Given the description of an element on the screen output the (x, y) to click on. 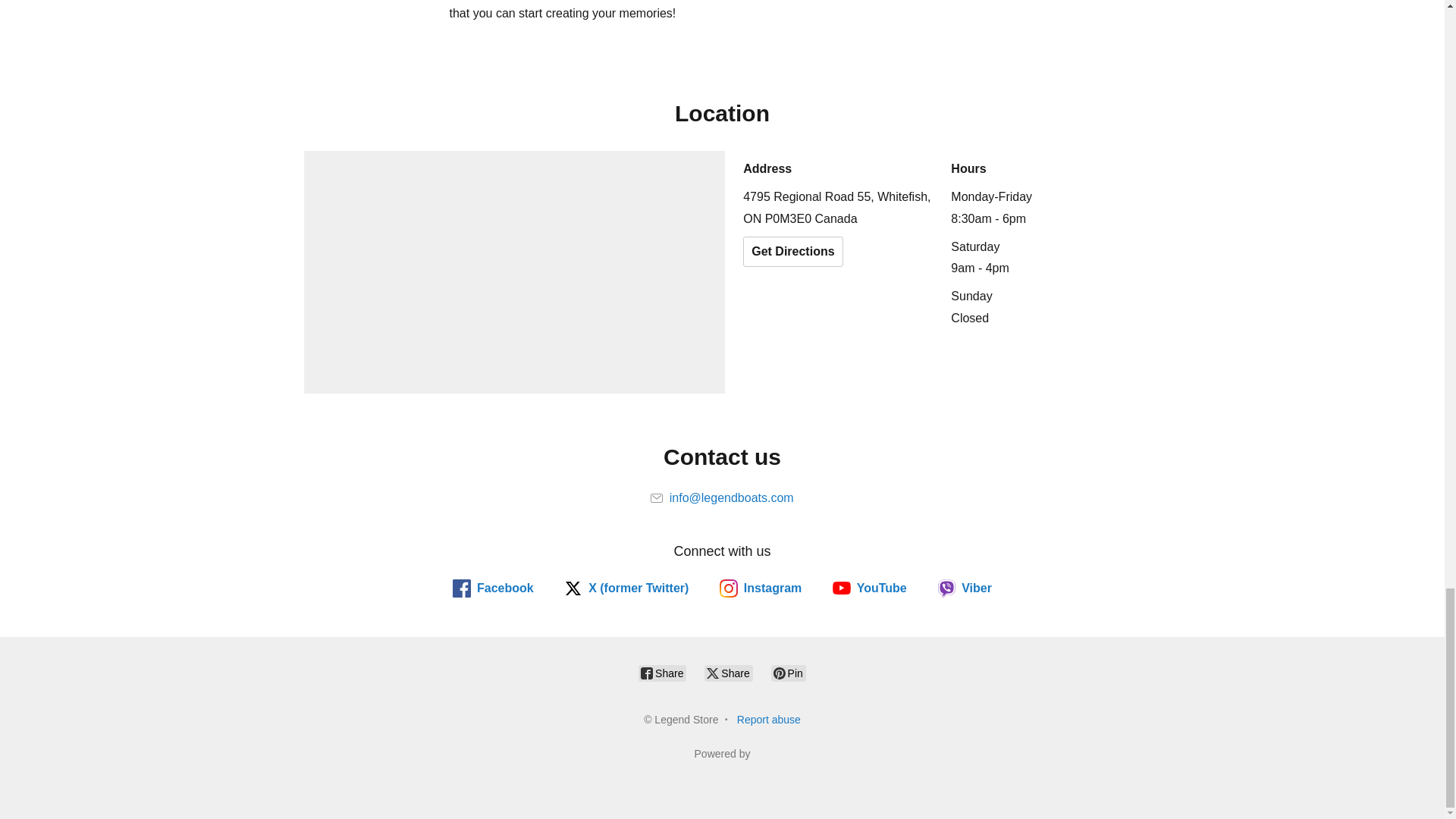
Instagram (760, 588)
Powered by (722, 770)
Viber (964, 588)
Location on map (513, 271)
Share (728, 673)
Get Directions (792, 251)
Share (662, 673)
Report abuse (768, 719)
Facebook (493, 588)
YouTube (869, 588)
Pin (788, 673)
